Given the description of an element on the screen output the (x, y) to click on. 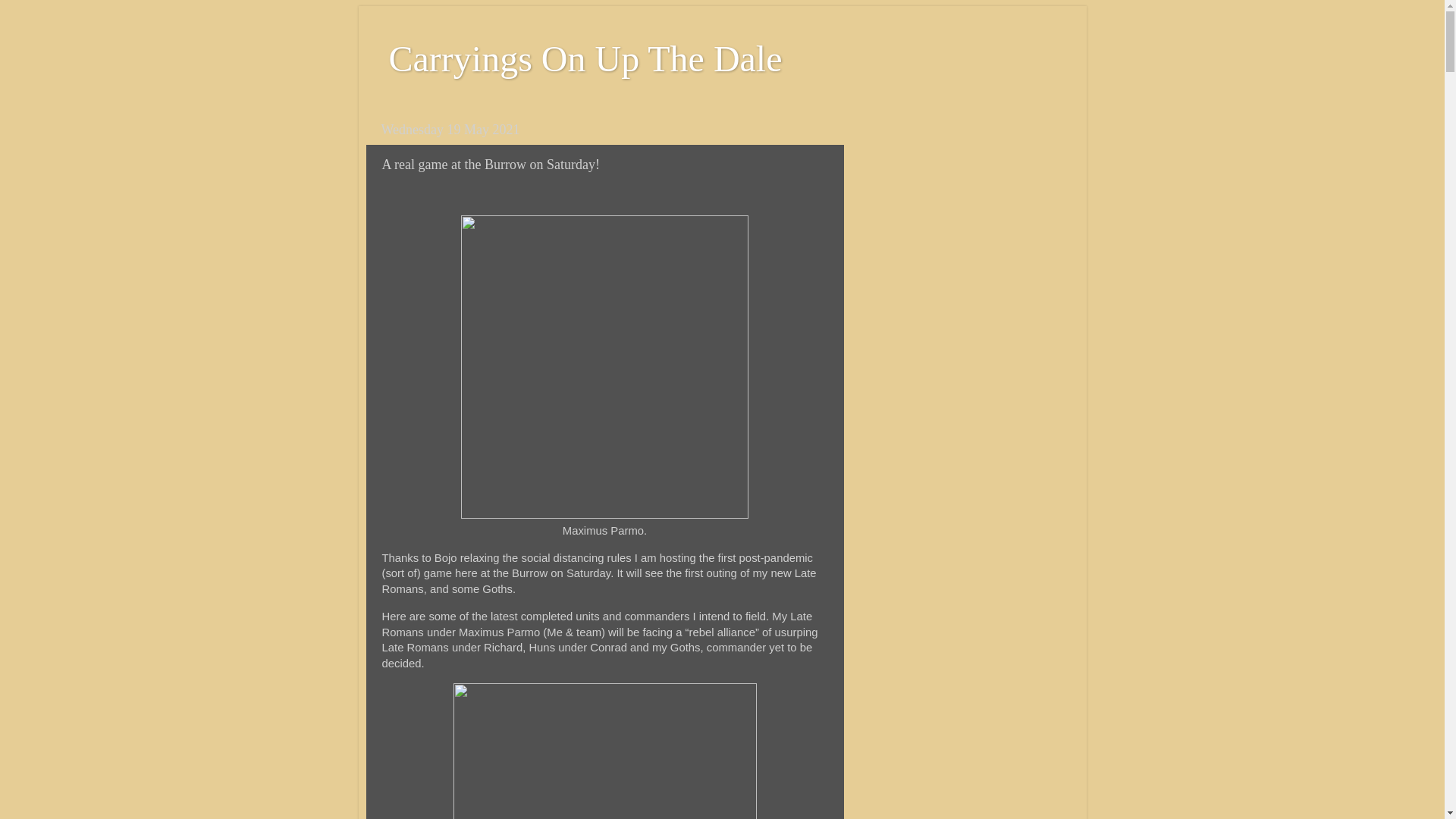
Carryings On Up The Dale (584, 58)
